Given the description of an element on the screen output the (x, y) to click on. 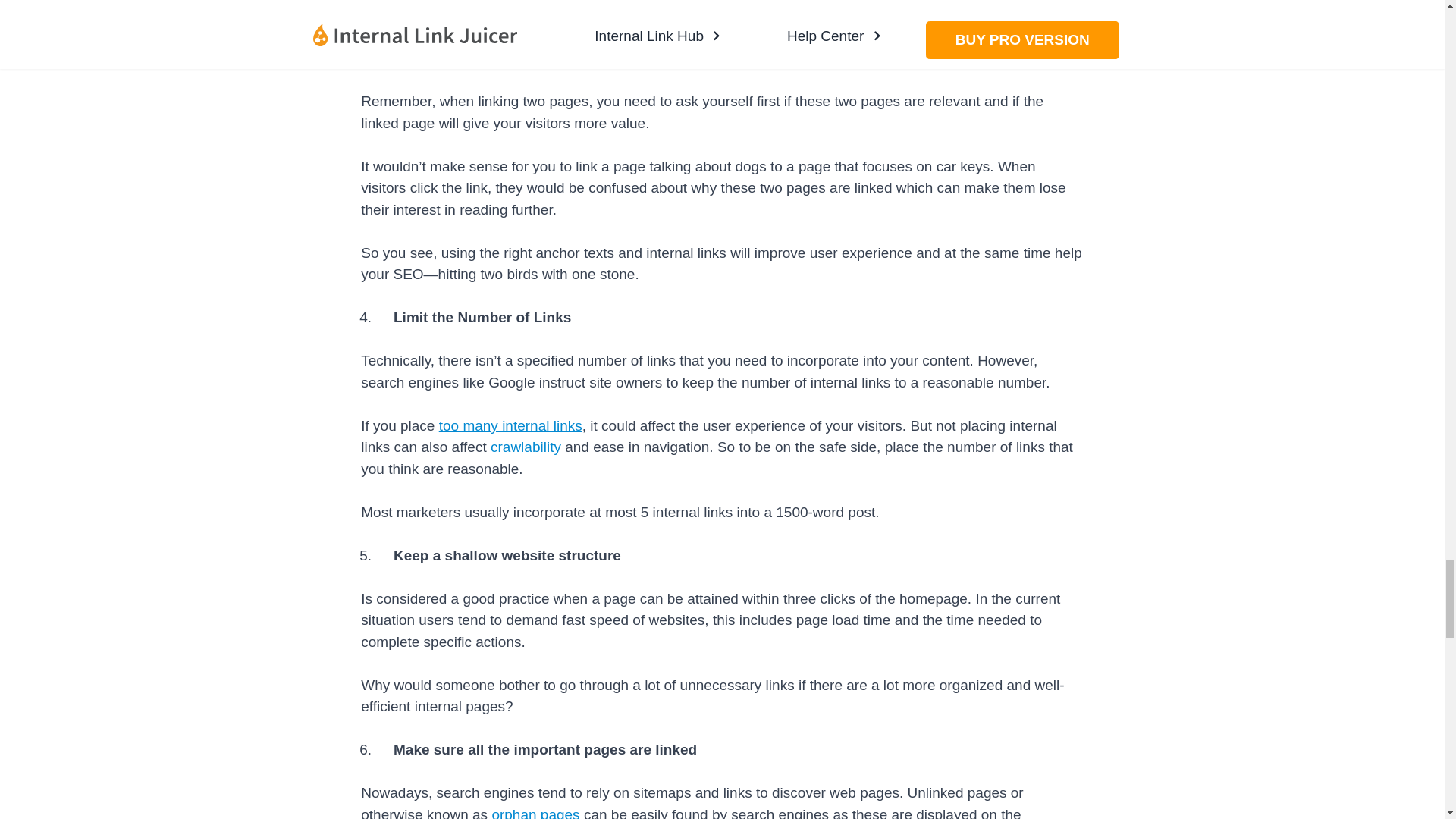
crawlability (525, 446)
orphan pages (535, 812)
too many internal links (510, 425)
